Given the description of an element on the screen output the (x, y) to click on. 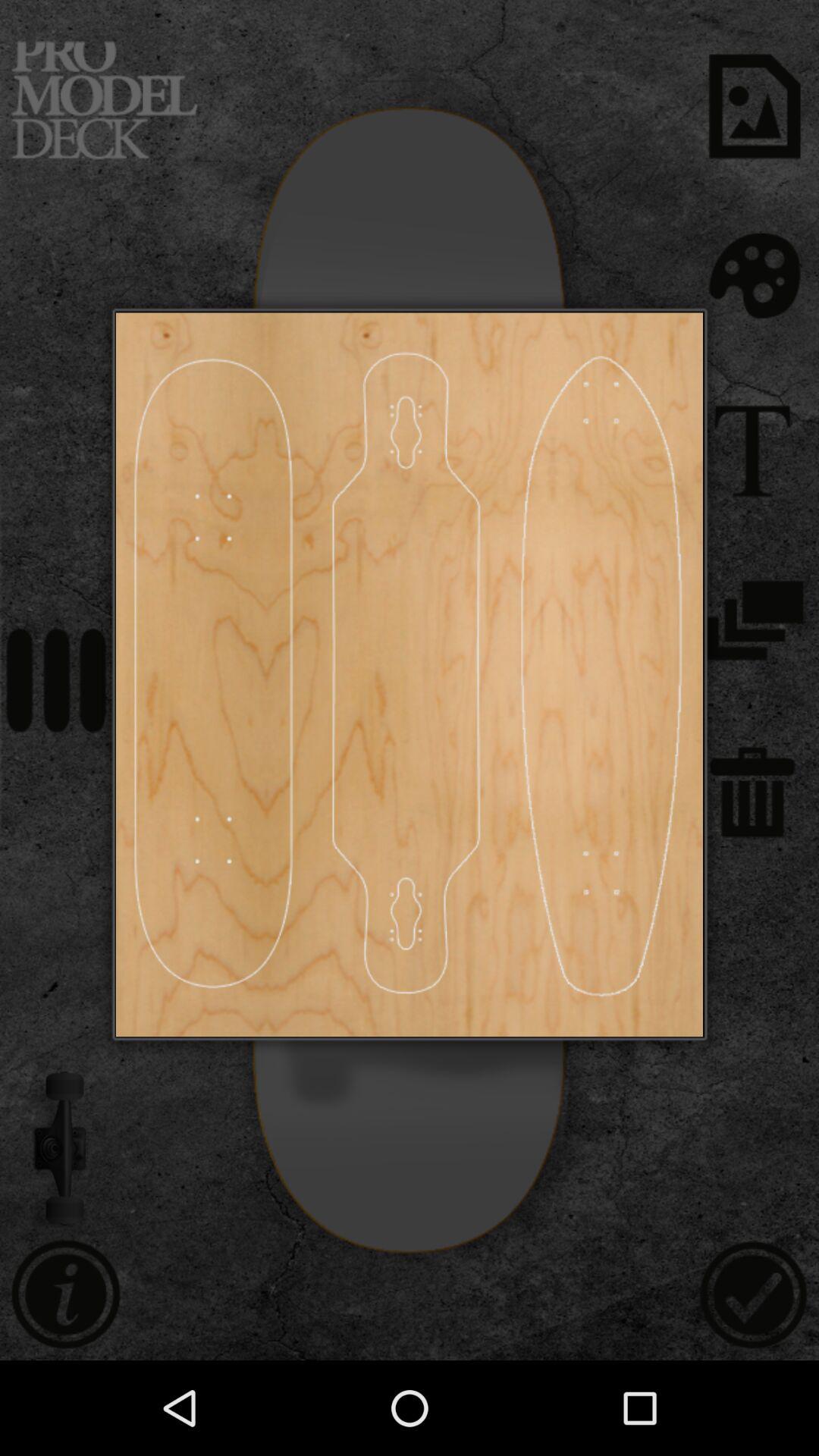
choose a model (406, 674)
